Given the description of an element on the screen output the (x, y) to click on. 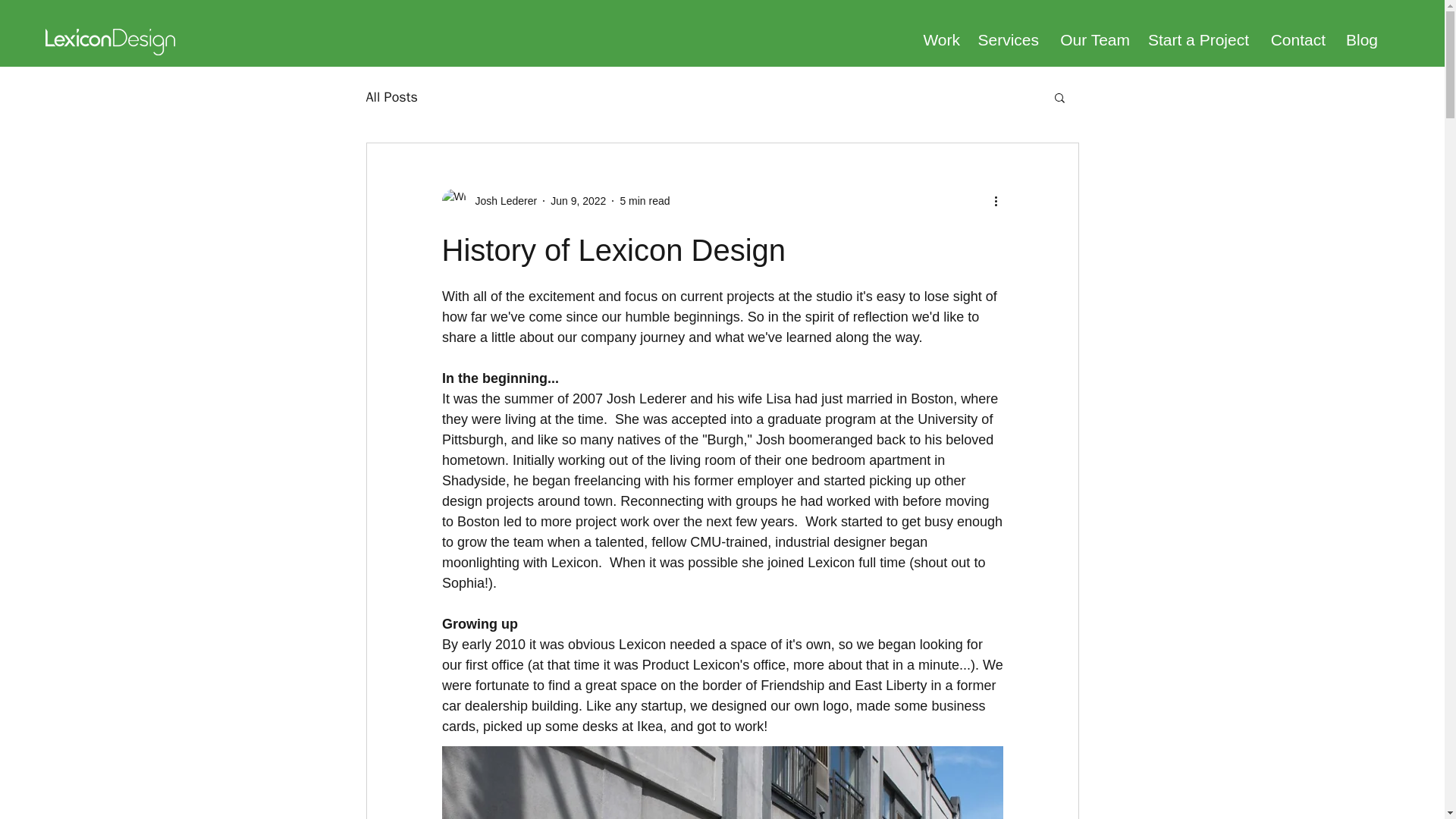
Services (1007, 39)
All Posts (390, 96)
Work (939, 39)
Josh Lederer (501, 200)
Our Team (1091, 39)
Start a Project (1196, 39)
Jun 9, 2022 (577, 200)
5 min read (644, 200)
Contact (1294, 39)
Blog (1359, 39)
